Given the description of an element on the screen output the (x, y) to click on. 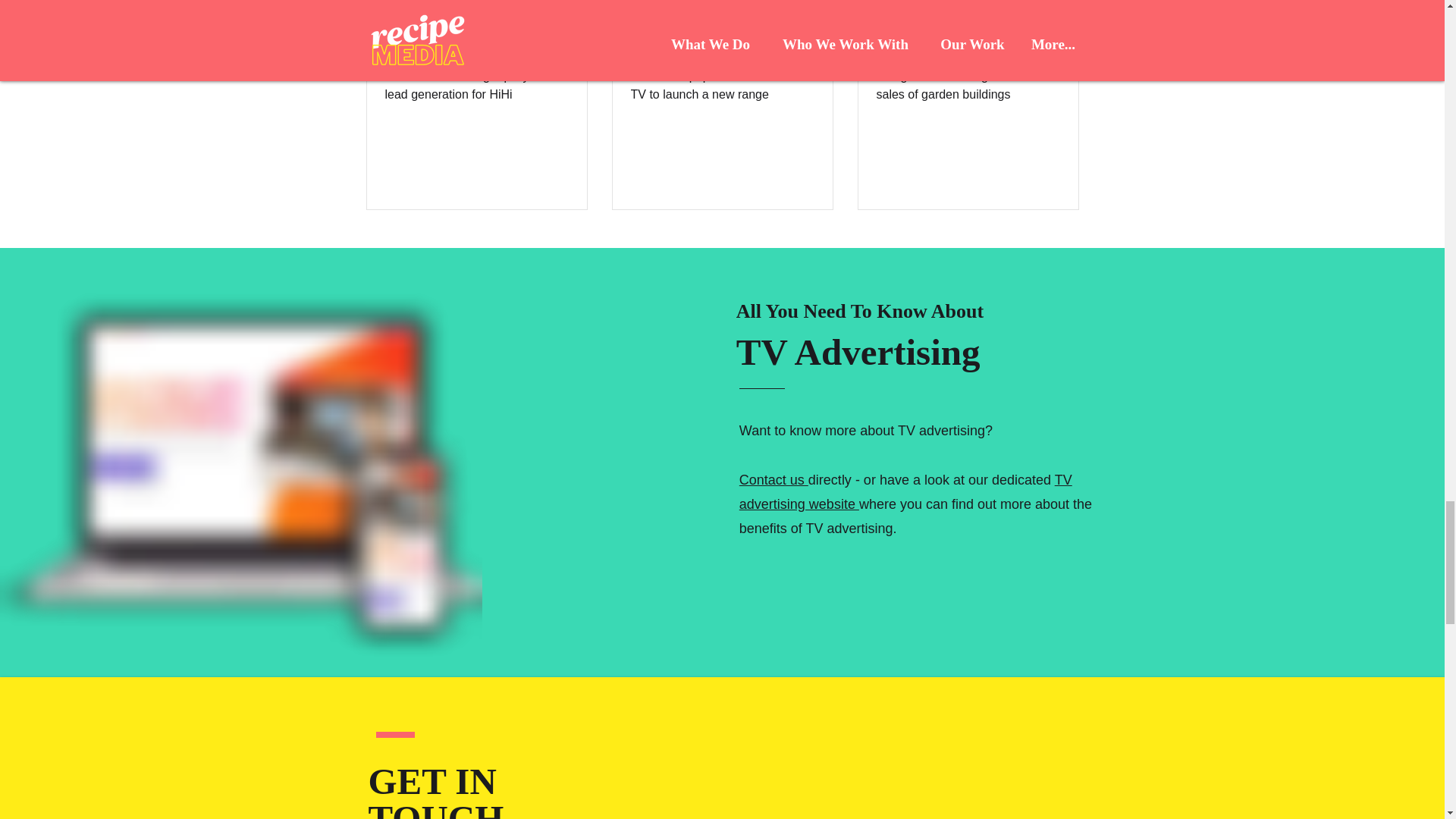
Bringing a traditional gardens brand to a mass audience (967, 29)
TV advertising website (905, 491)
Contact us (773, 479)
TV Advertising Supercharges Lead Generation (477, 29)
